Given the description of an element on the screen output the (x, y) to click on. 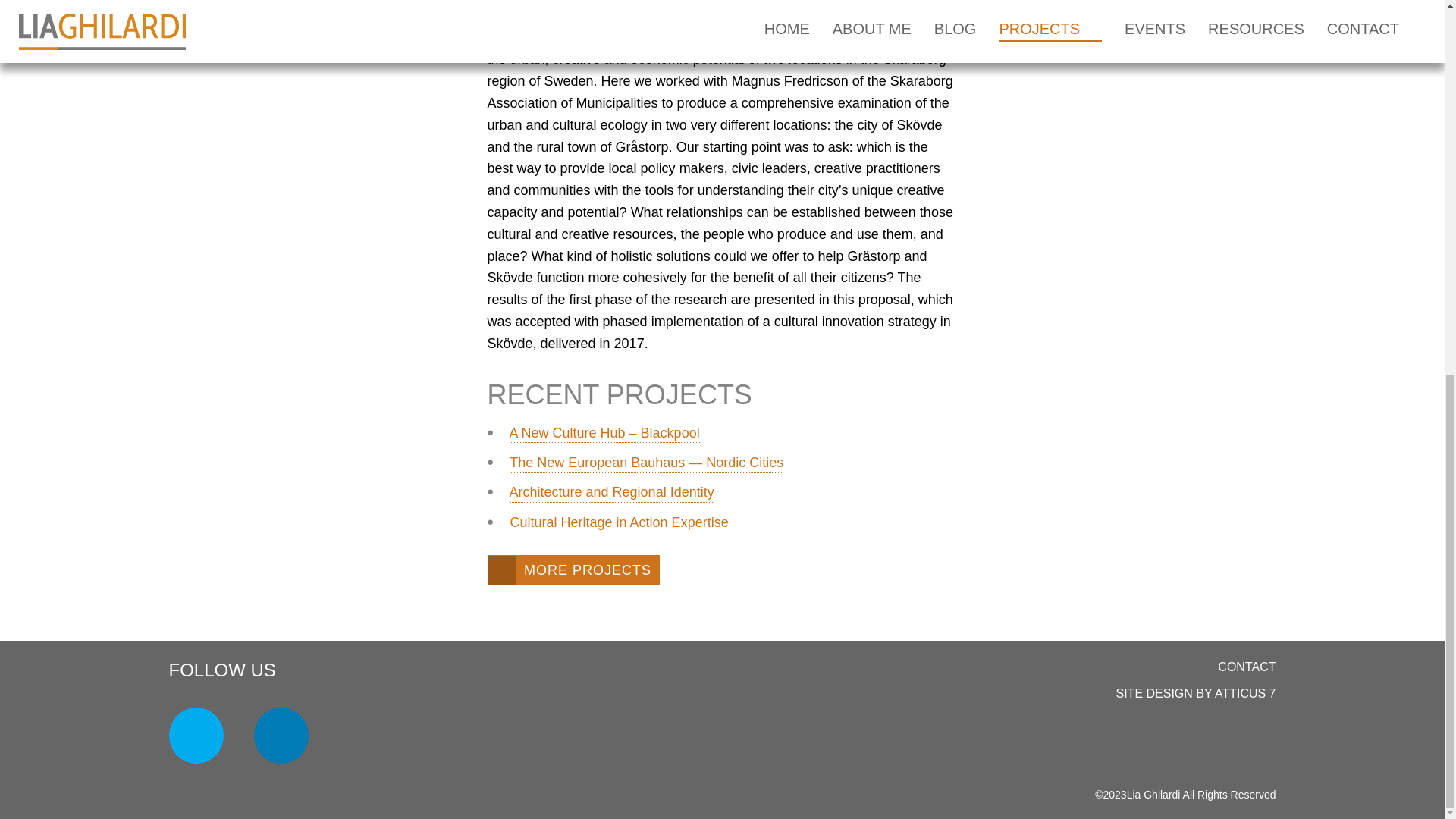
CONTACT (1246, 670)
SITE DESIGN BY ATTICUS 7 (1195, 696)
Twitter (195, 735)
Architecture and Regional Identity (611, 493)
MORE PROJECTS (572, 570)
LinkedIn (280, 735)
Cultural Heritage in Action Expertise (620, 524)
